Given the description of an element on the screen output the (x, y) to click on. 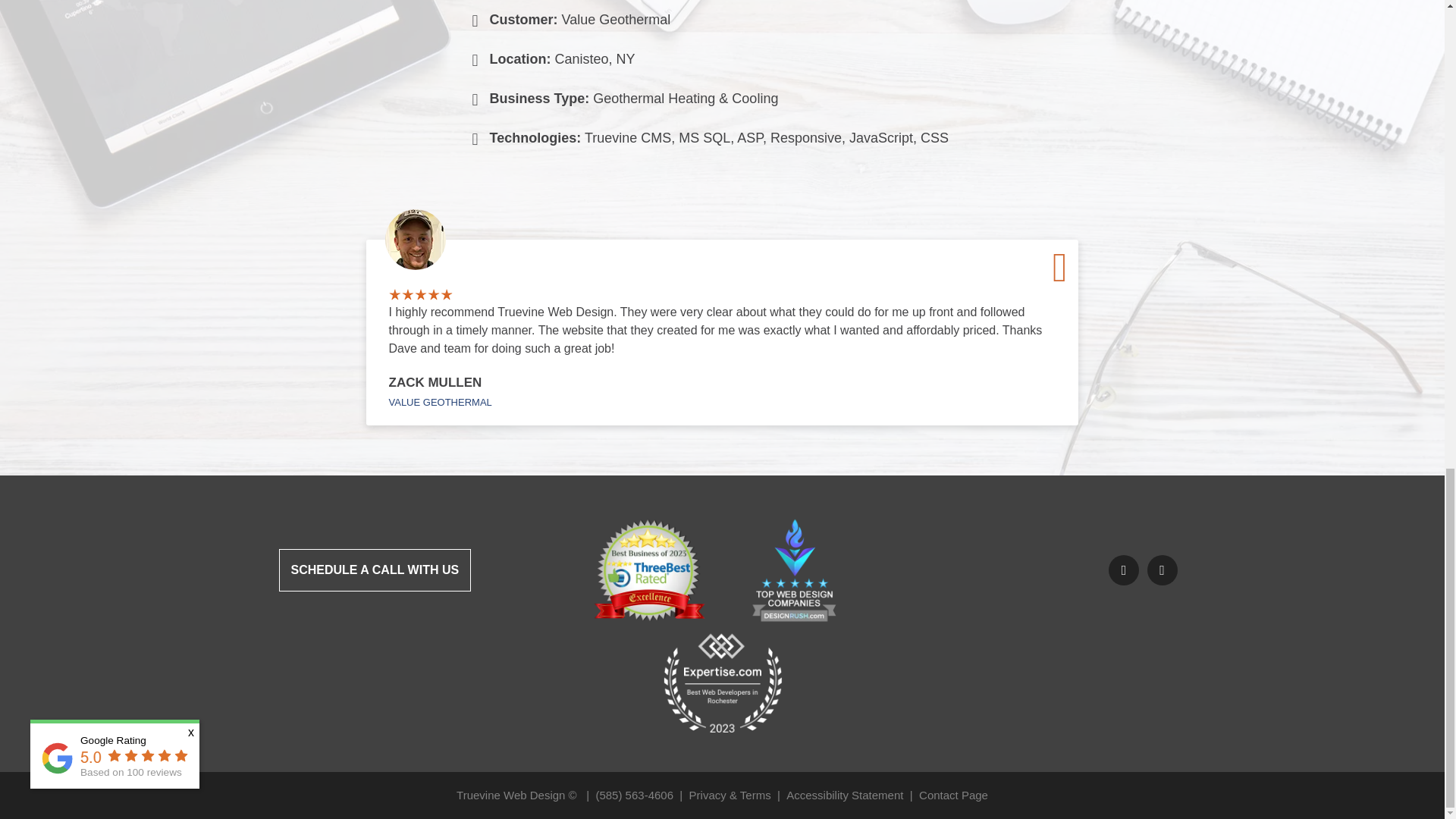
Contact Page (953, 794)
Truevine Web Design (510, 794)
SCHEDULE A CALL WITH US (375, 569)
Accessibility Statement (844, 794)
